Given the description of an element on the screen output the (x, y) to click on. 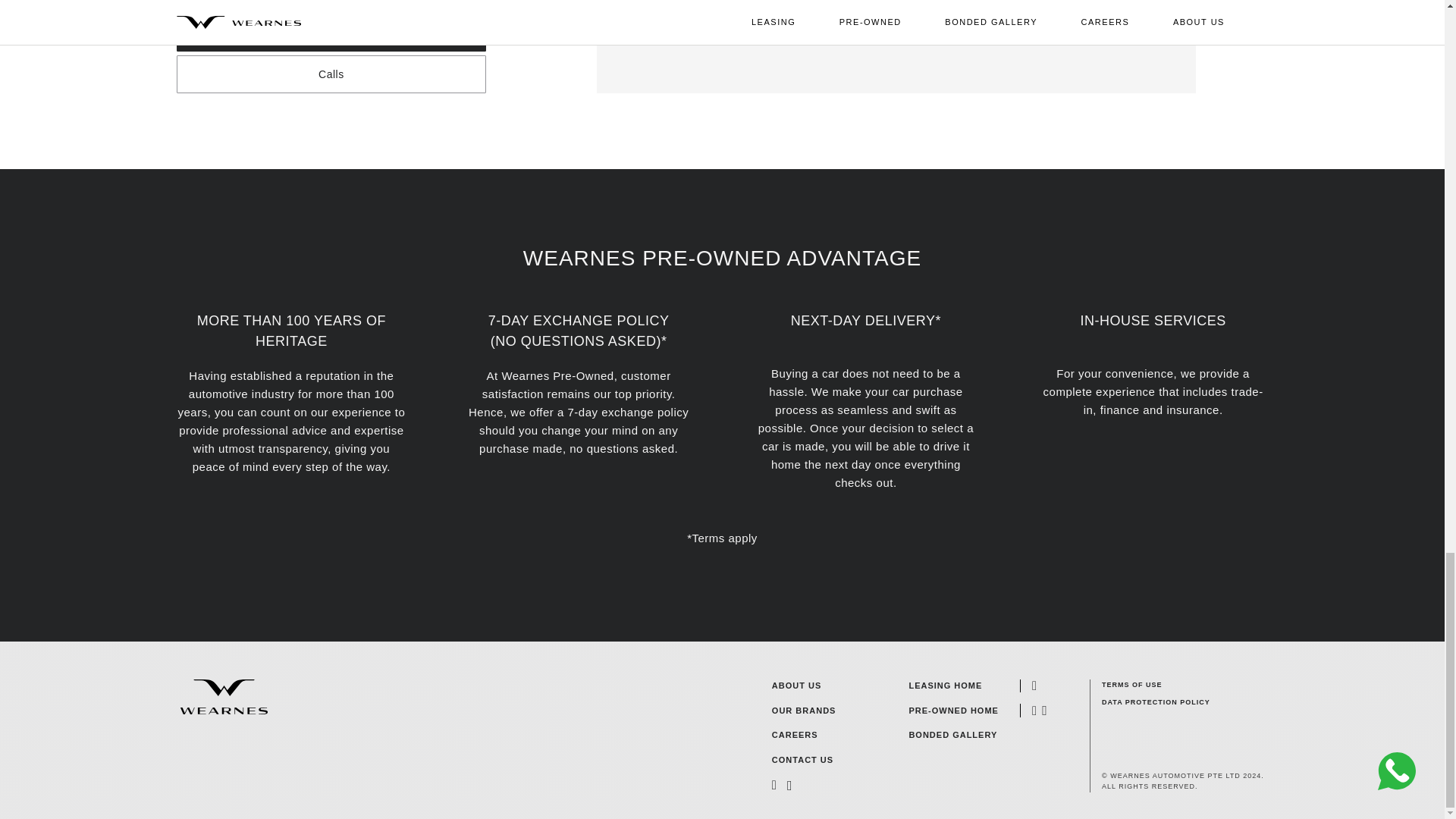
CONTACT US (801, 760)
DATA PROTECTION POLICY (1155, 701)
ABOUT US (796, 685)
OUR BRANDS (803, 711)
BONDED GALLERY (953, 735)
LEASING HOME (953, 685)
PRE-OWNED HOME (953, 711)
TERMS OF USE (1155, 684)
CAREERS (794, 735)
